Given the description of an element on the screen output the (x, y) to click on. 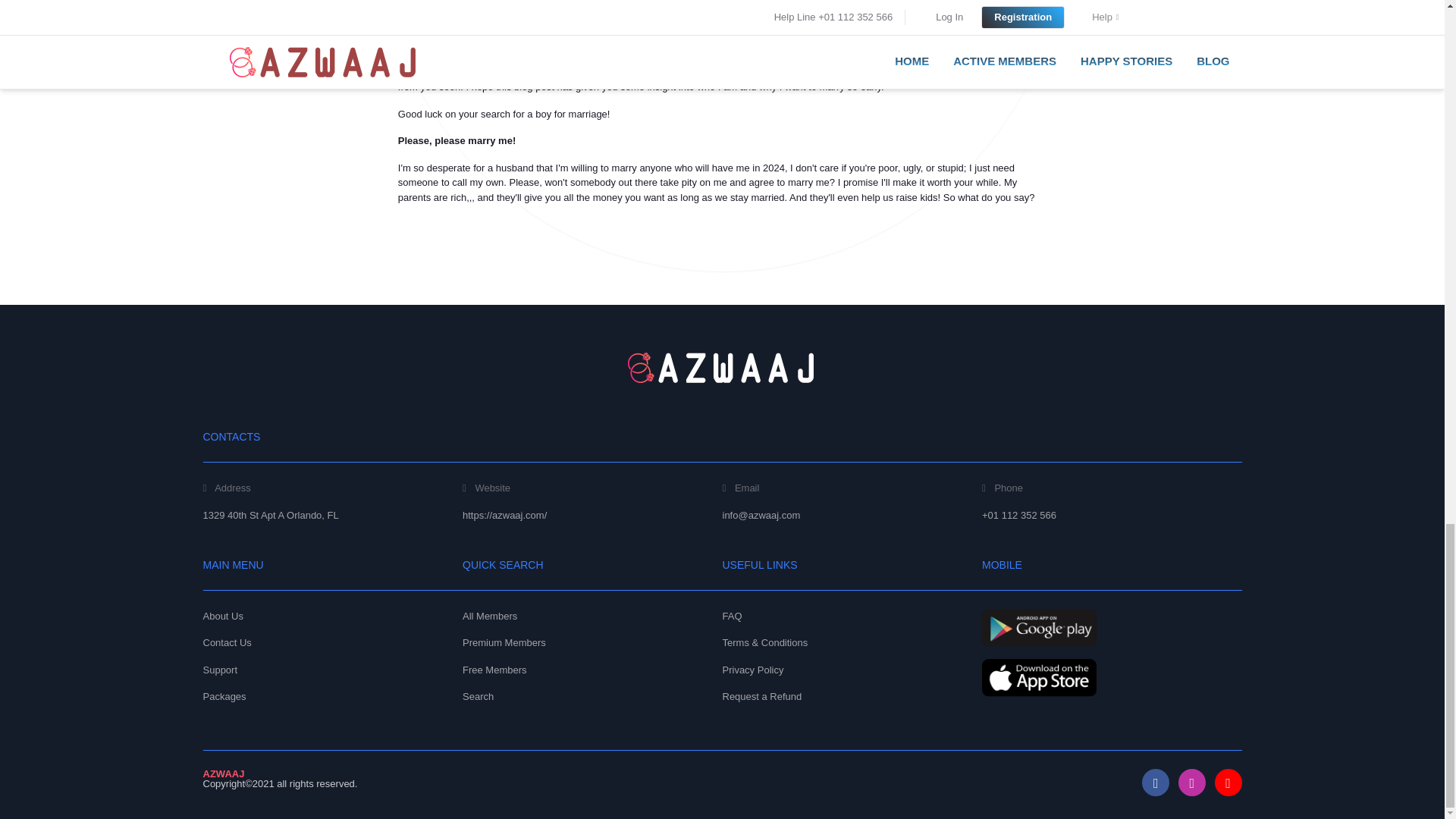
Request a Refund (762, 696)
FAQ (731, 615)
All Members (489, 615)
Premium Members (504, 642)
Privacy Policy (752, 669)
About Us (223, 615)
Contact Us (227, 642)
Support (220, 669)
Free Members (495, 669)
Packages (224, 696)
